Given the description of an element on the screen output the (x, y) to click on. 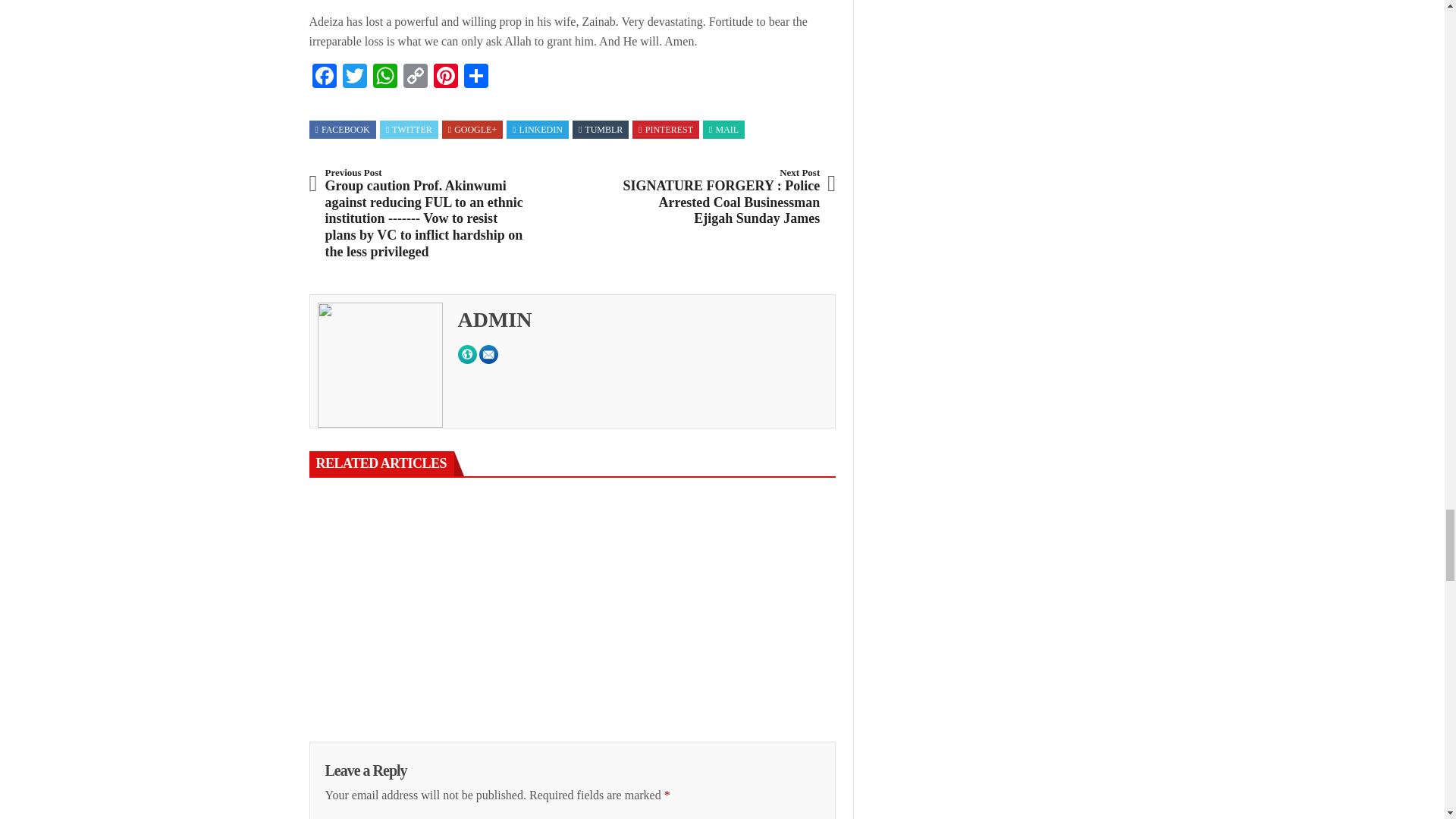
Copy Link (415, 77)
Google Plus (472, 129)
Facebook (342, 129)
Twitter (354, 77)
Facebook (323, 77)
Twitter (408, 129)
Tumblr (600, 129)
Pinterest (445, 77)
LinkedIn (537, 129)
WhatsApp (384, 77)
